Given the description of an element on the screen output the (x, y) to click on. 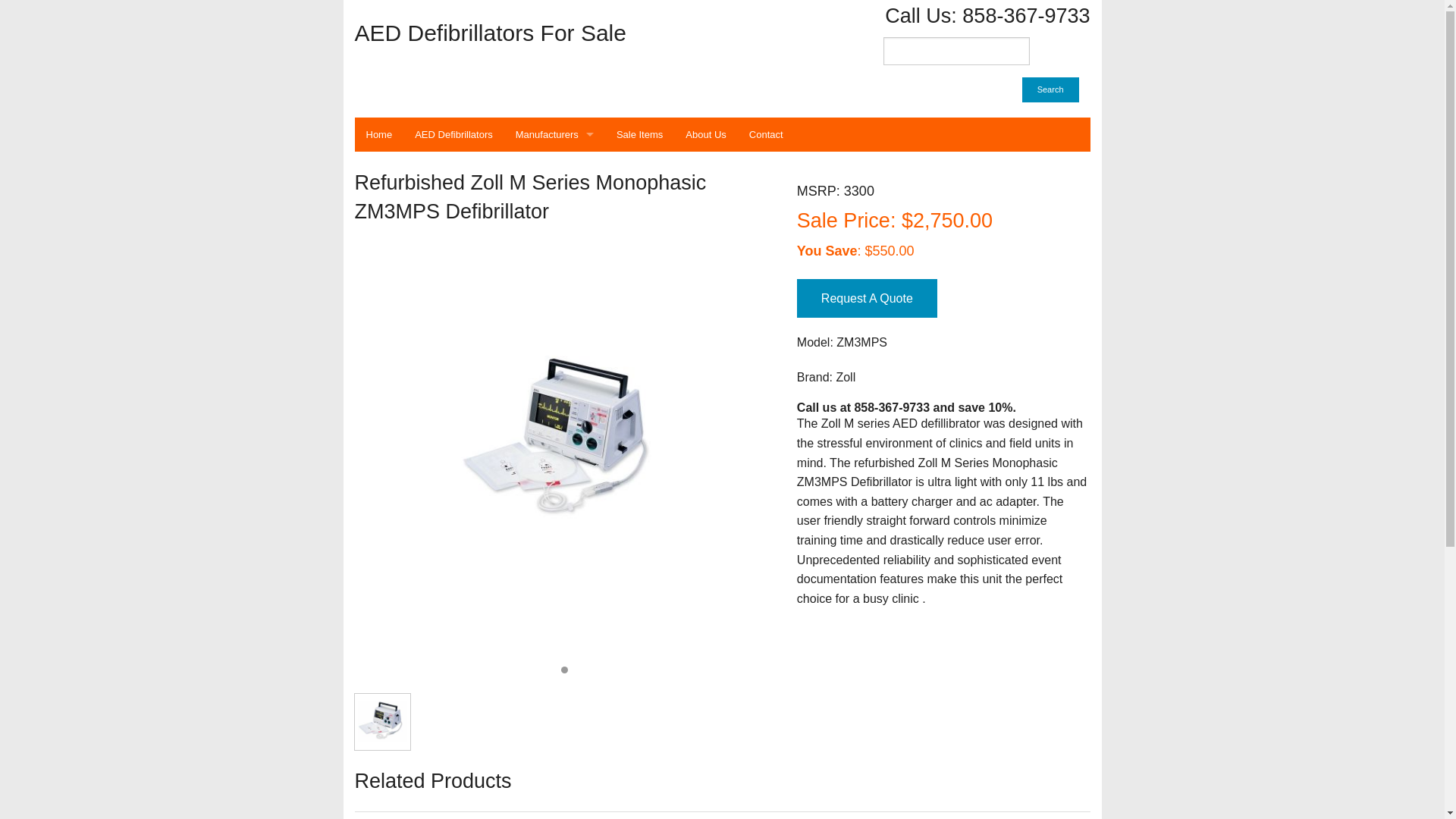
Sale Items (639, 134)
Request A Quote (866, 298)
AED Defibrillators (453, 134)
AED Defibrillators For Sale (533, 33)
About Us (705, 134)
search (956, 50)
Home (379, 134)
Search (1050, 89)
Search (1050, 89)
Contact (766, 134)
Manufacturers (554, 134)
